Given the description of an element on the screen output the (x, y) to click on. 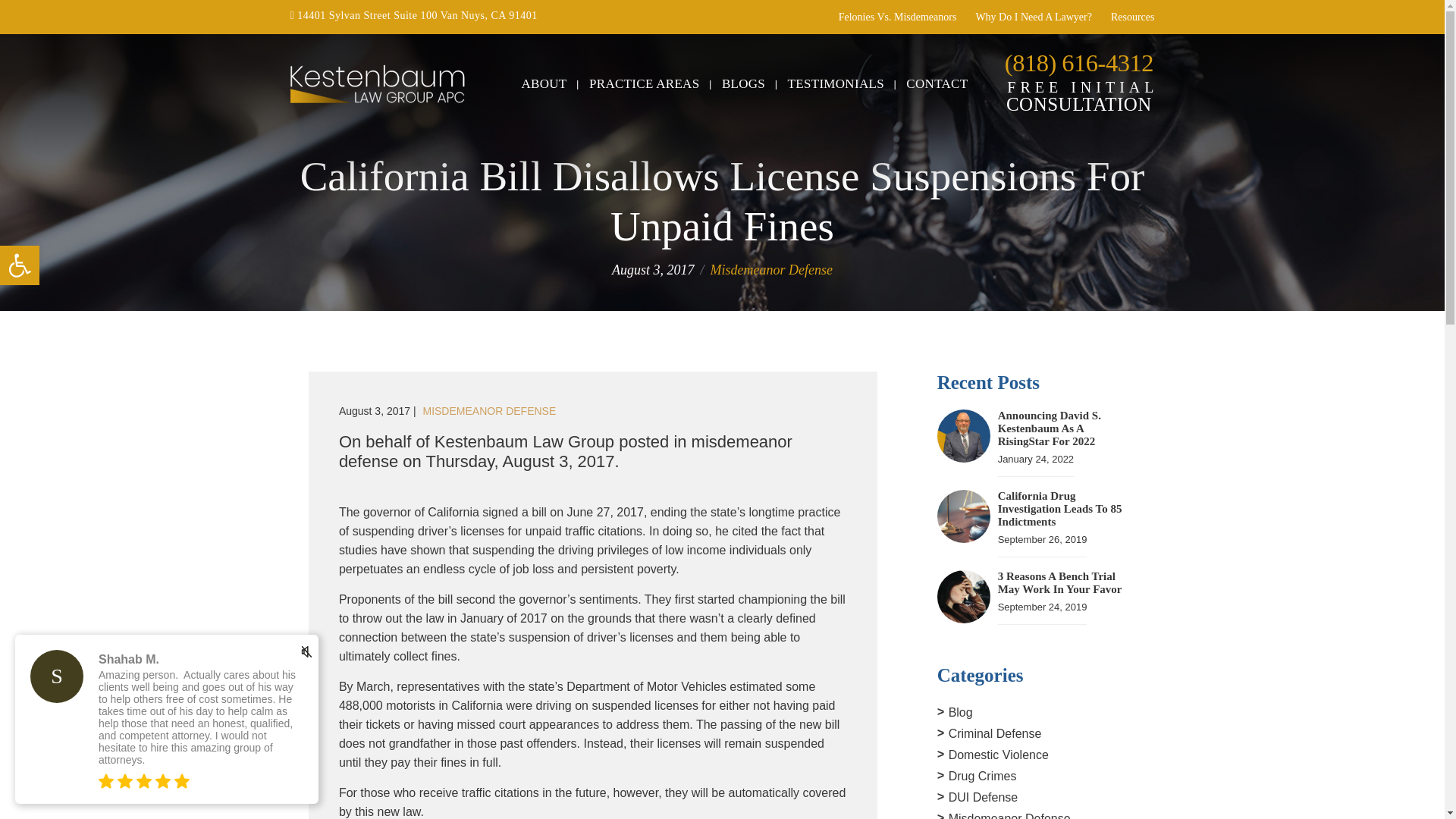
Why Do I Need A Lawyer? (1033, 16)
Accessibility Tools (19, 265)
BLOGS (742, 83)
Resources (19, 265)
14401 Sylvan Street Suite 100 Van Nuys, CA 91401 (1132, 16)
Accessibility Tools (413, 15)
Felonies Vs. Misdemeanors (19, 265)
CONTACT (897, 16)
ABOUT (936, 83)
TESTIMONIALS (544, 83)
PRACTICE AREAS (835, 83)
